Given the description of an element on the screen output the (x, y) to click on. 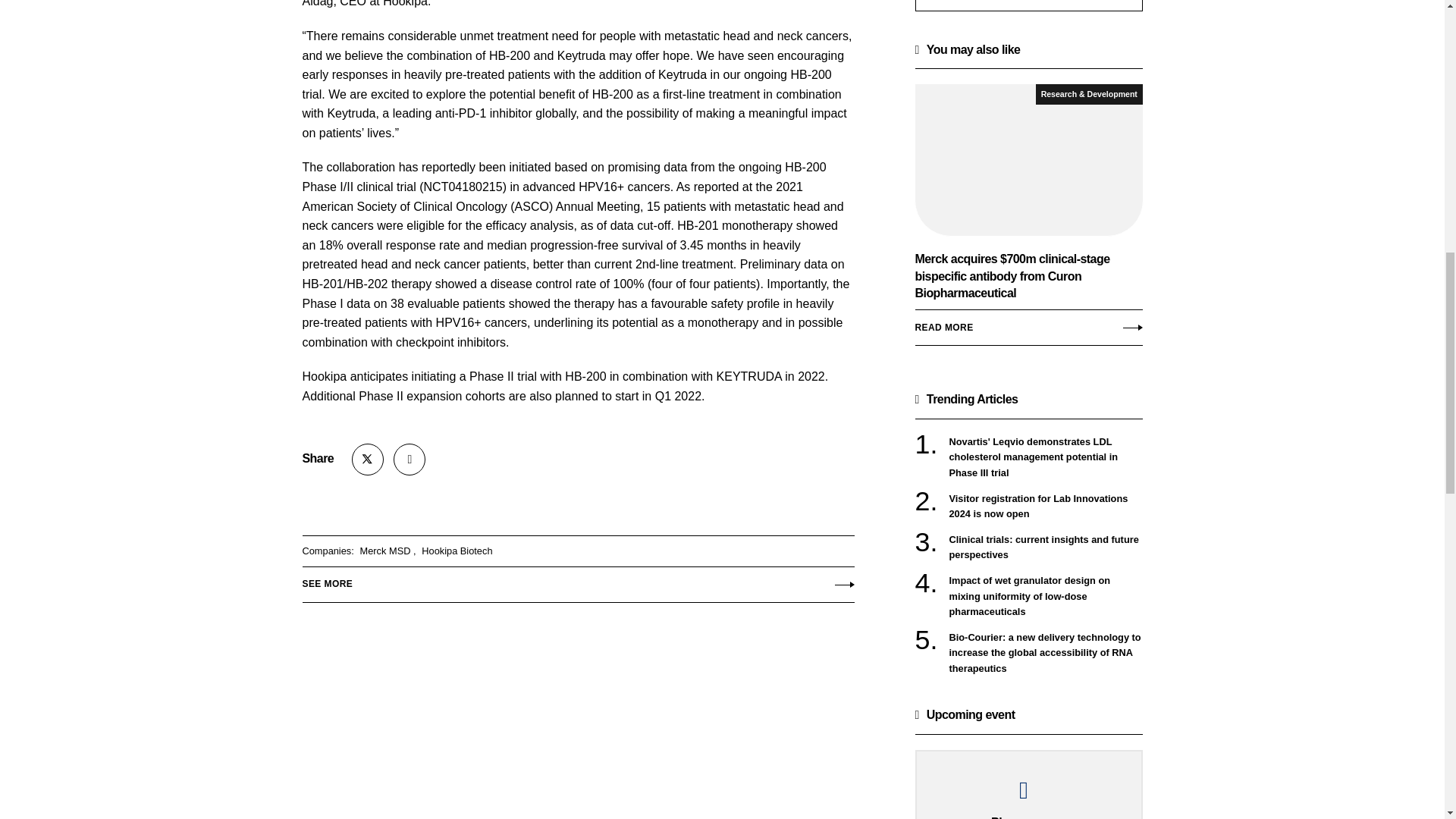
Visitor registration for Lab Innovations 2024 is now open (1045, 506)
Clinical trials: current insights and future perspectives (1045, 547)
SEE MORE (577, 580)
LinkedIn (409, 459)
X (368, 459)
Follow Manufacturing Chemist on X (368, 459)
Follow Manufacturing Chemist on LinkedIn (409, 459)
